Given the description of an element on the screen output the (x, y) to click on. 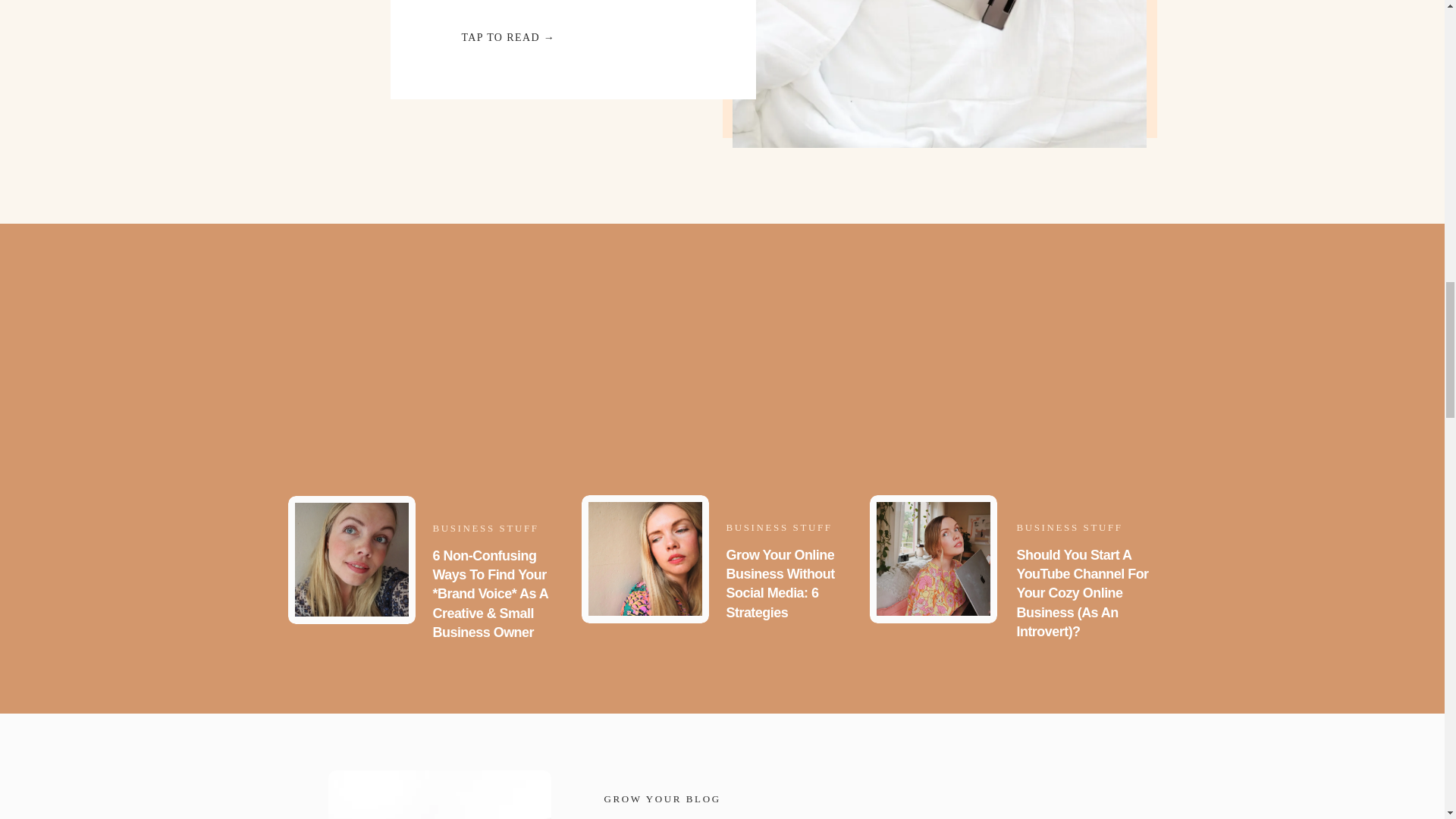
BUSINESS STUFF (485, 527)
BUSINESS STUFF (779, 527)
BUSINESS STUFF (1069, 527)
Grow Your Online Business Without Social Media: 6 Strategies (780, 583)
Grow Your Online Business Without Social Media: 6 Strategies (644, 558)
